Given the description of an element on the screen output the (x, y) to click on. 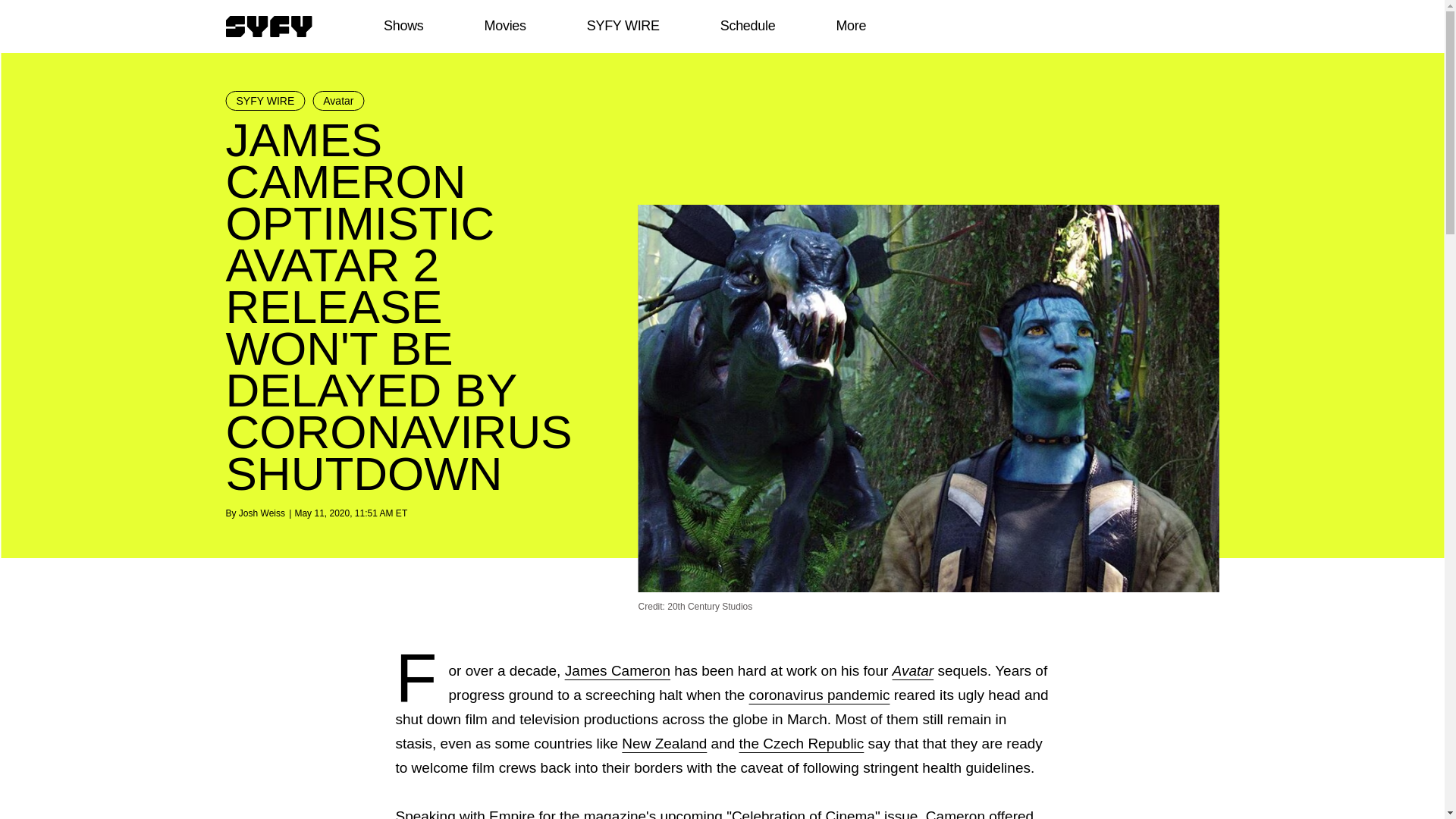
Schedule (746, 26)
Movies (504, 26)
coronavirus pandemic (819, 694)
More (850, 26)
New Zealand (663, 743)
James Cameron (616, 670)
the Czech Republic (801, 743)
Shows (403, 26)
SYFY WIRE (265, 100)
Josh Weiss (261, 512)
SYFY WIRE (622, 26)
Avatar (338, 100)
Speaking with Empire (465, 813)
Avatar (913, 670)
